Given the description of an element on the screen output the (x, y) to click on. 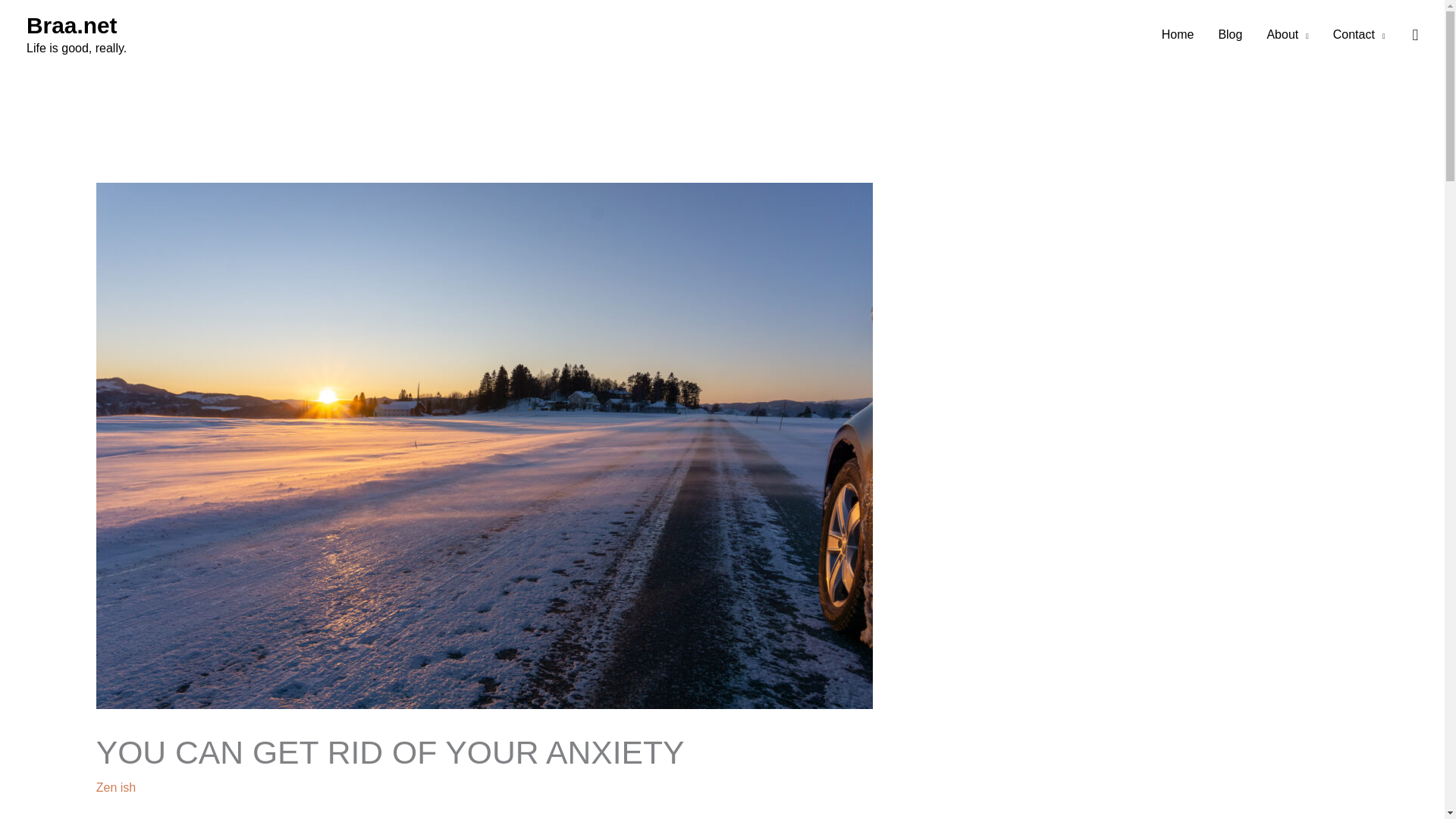
Home (1178, 34)
Contact (1358, 34)
Zen ish (115, 787)
Braa.net (71, 25)
Blog (1229, 34)
About (1286, 34)
